Given the description of an element on the screen output the (x, y) to click on. 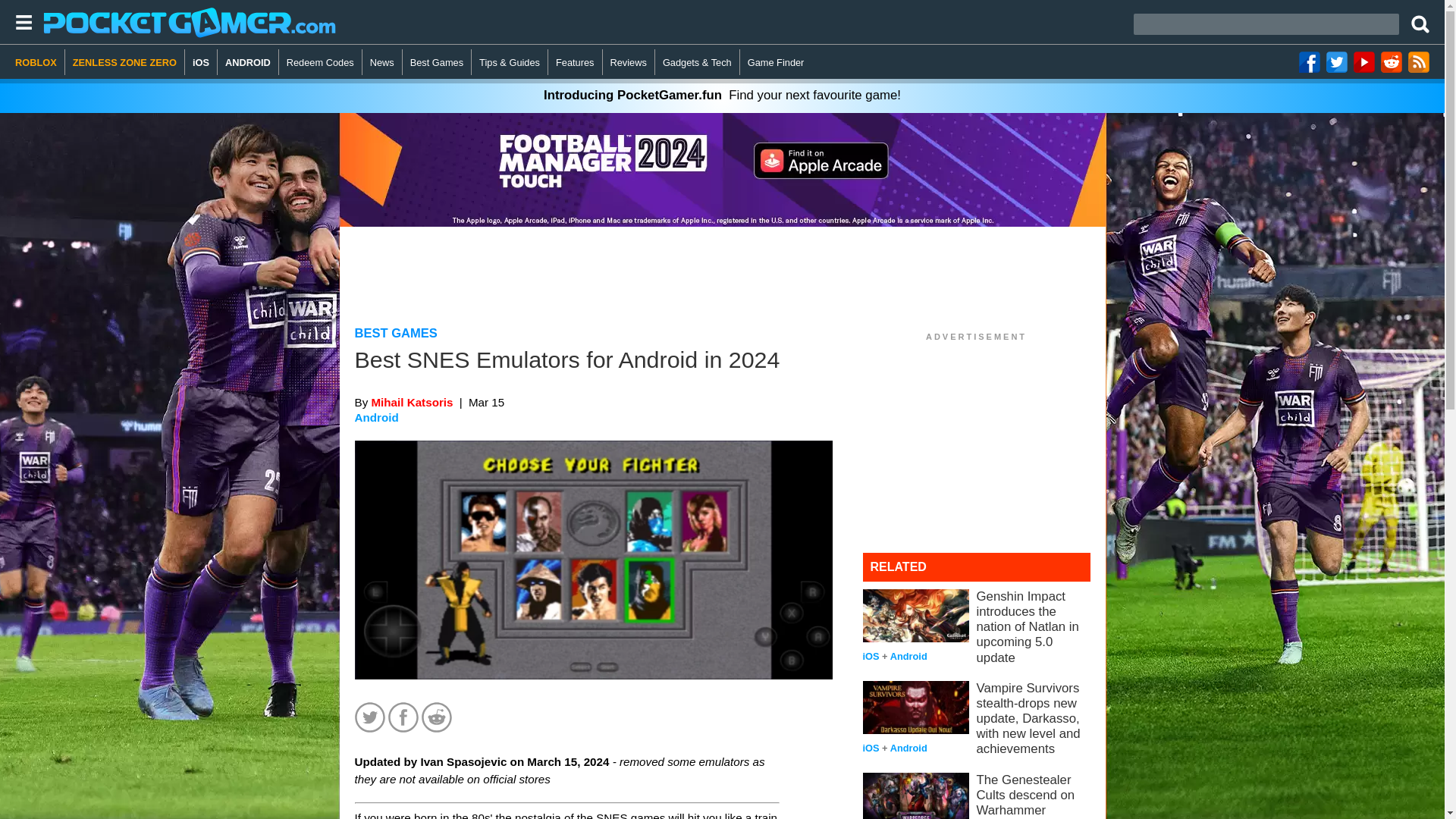
Features (575, 62)
ANDROID (247, 62)
News (382, 62)
Reviews (628, 62)
ZENLESS ZONE ZERO (124, 62)
Best Games (437, 62)
Mihail Katsoris (411, 401)
iOS (200, 62)
ROBLOX (39, 62)
BEST GAMES (396, 332)
